Given the description of an element on the screen output the (x, y) to click on. 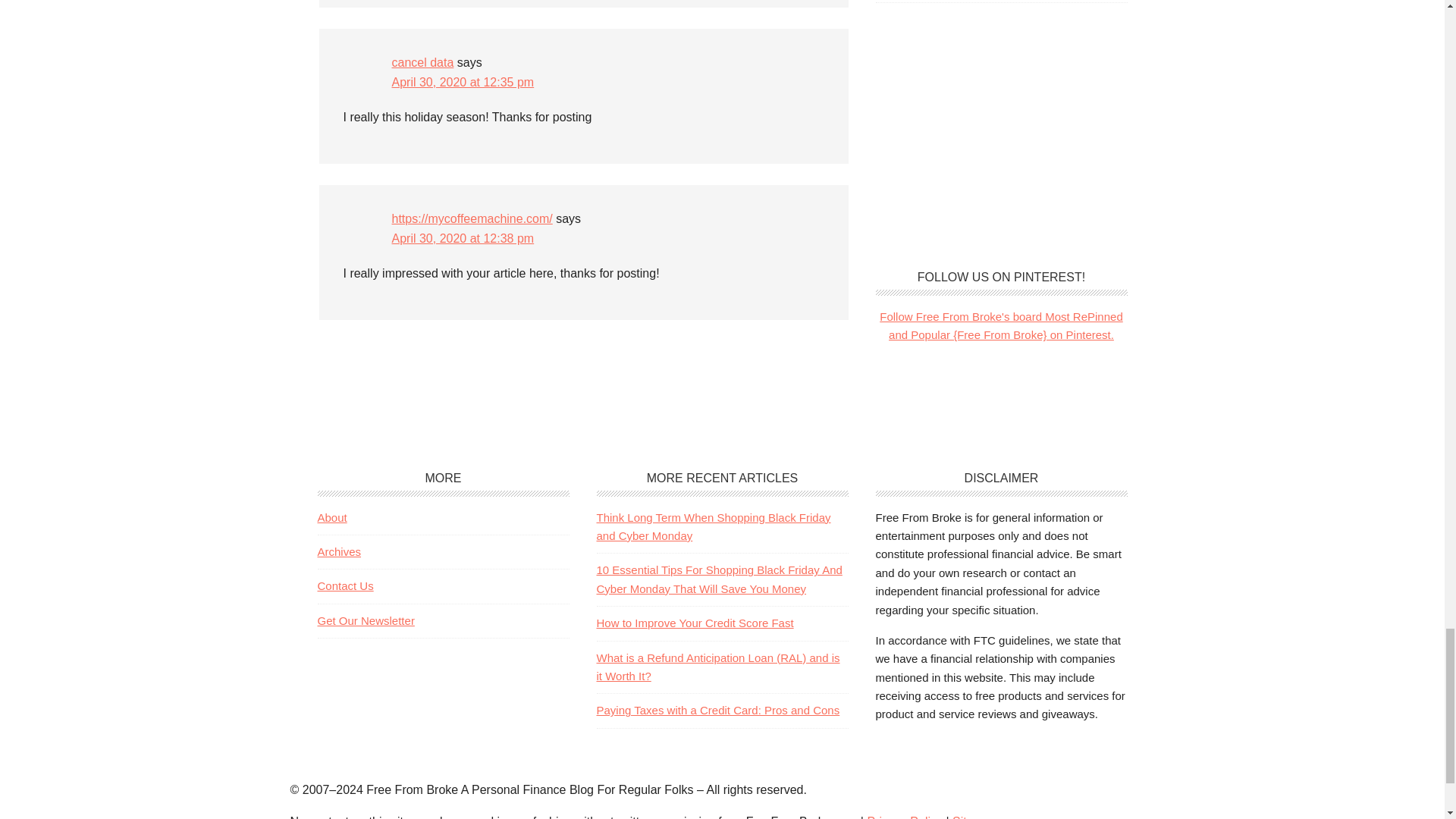
Look Paying Taxes with a Credit Card: Pros and Cons (717, 709)
April 30, 2020 at 12:35 pm (462, 82)
cancel data (421, 62)
Look How to Improve Your Credit Score Fast (694, 622)
April 30, 2020 at 12:38 pm (462, 237)
